Given the description of an element on the screen output the (x, y) to click on. 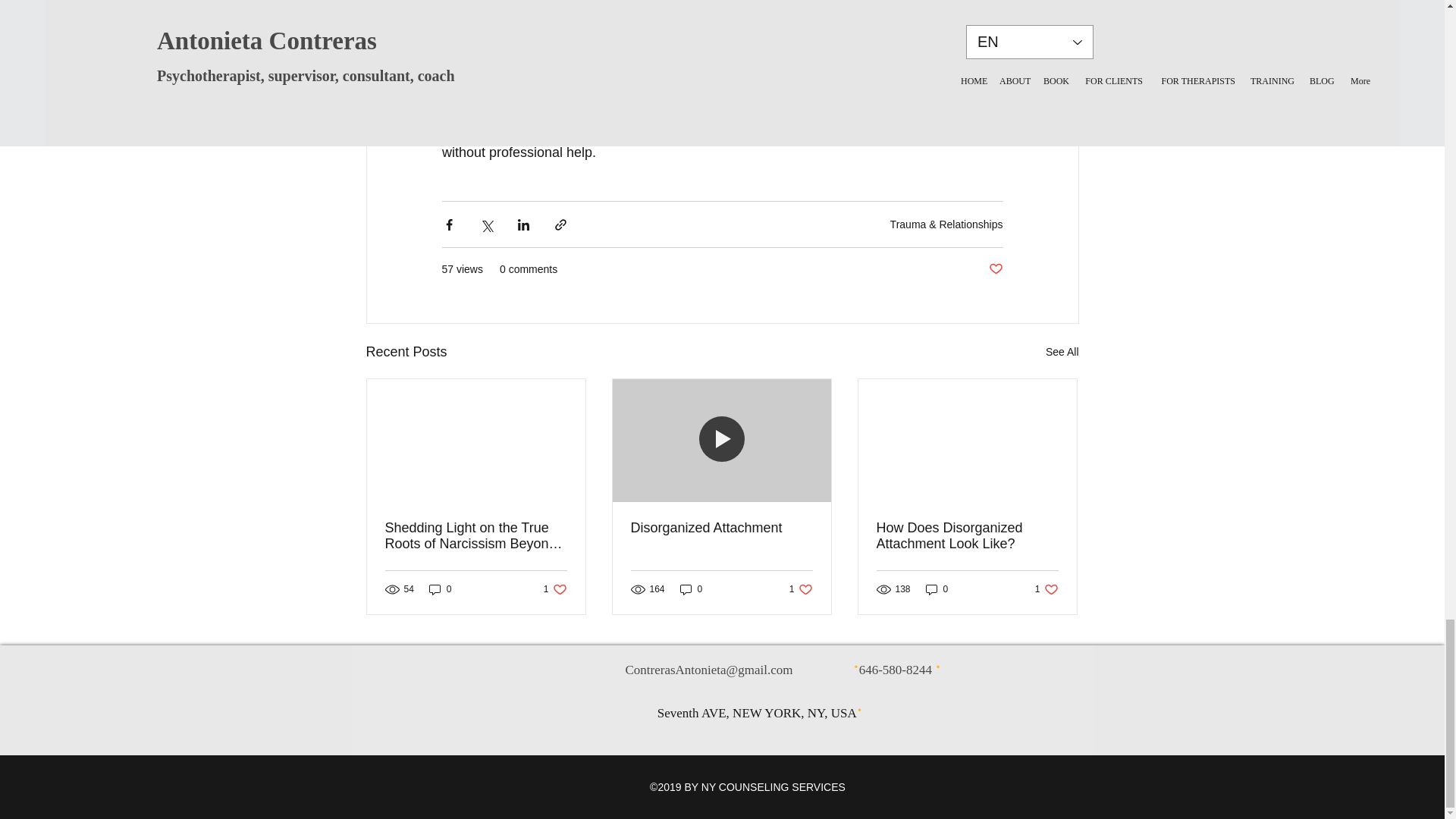
Shedding Light on the True Roots of Narcissism Beyond Trauma (476, 536)
0 (555, 588)
See All (440, 588)
Post not marked as liked (1061, 352)
